Given the description of an element on the screen output the (x, y) to click on. 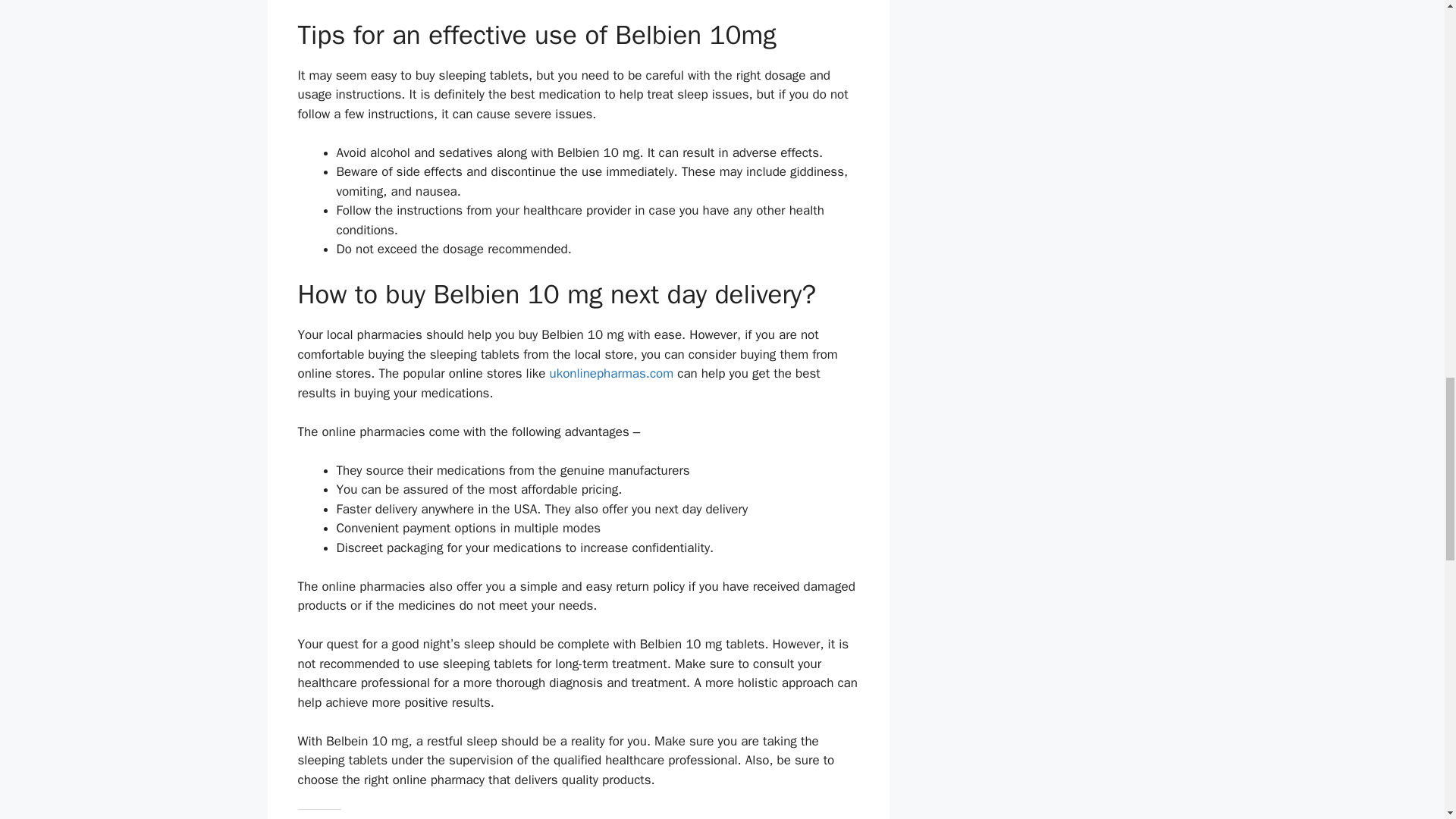
ukonlinepharmas.com (610, 373)
